Given the description of an element on the screen output the (x, y) to click on. 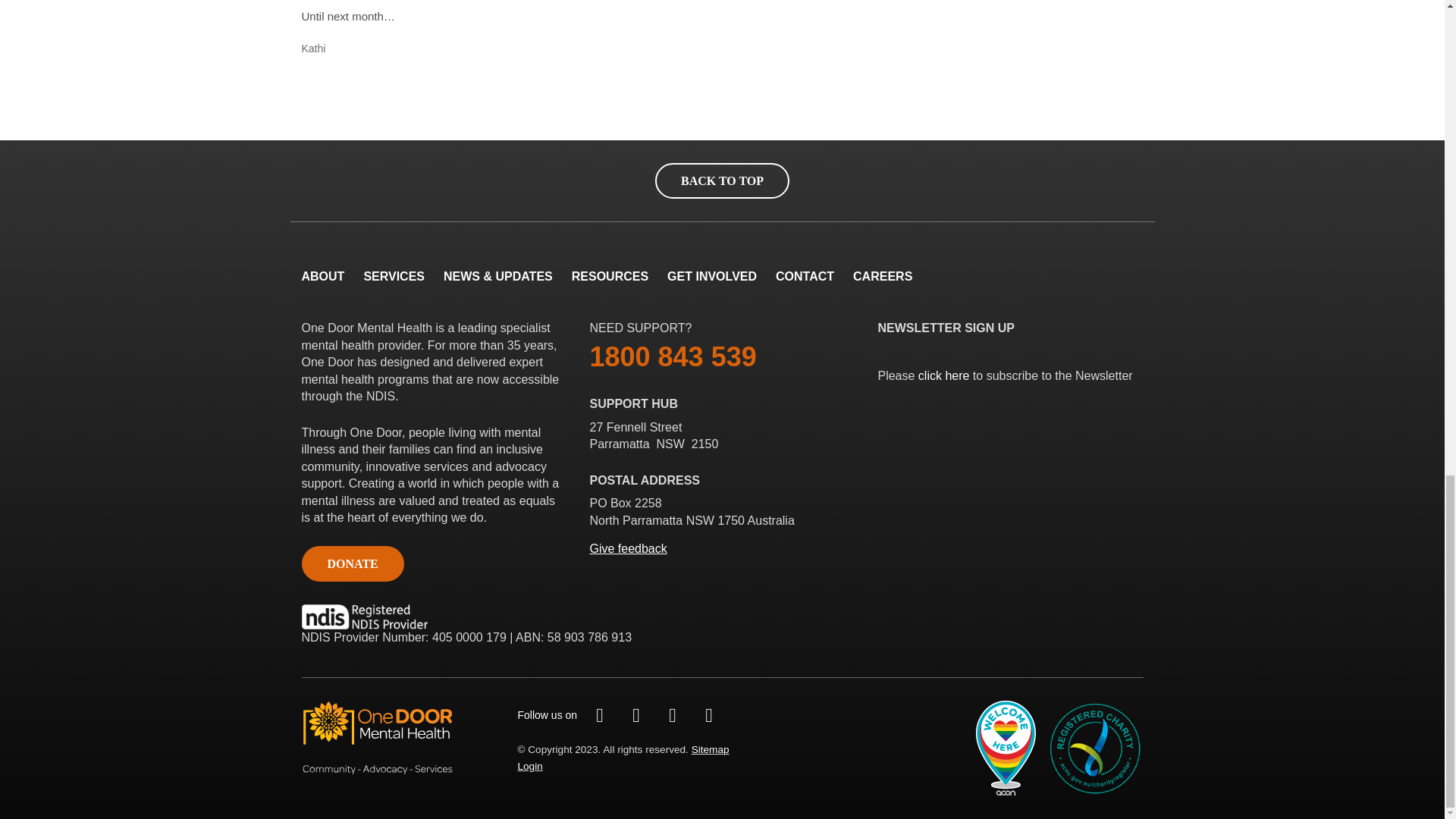
ABOUT (323, 276)
CONTACT (805, 276)
DONATE (352, 563)
Facebook (598, 715)
Give feedback (627, 548)
Instagram (671, 715)
YouTube (708, 715)
SERVICES (393, 276)
Give feedback (627, 548)
click here (943, 375)
sitemap (710, 749)
BACK TO TOP (722, 180)
Sitemap (710, 749)
Linkedin (635, 715)
DONATE NOW (352, 563)
